Given the description of an element on the screen output the (x, y) to click on. 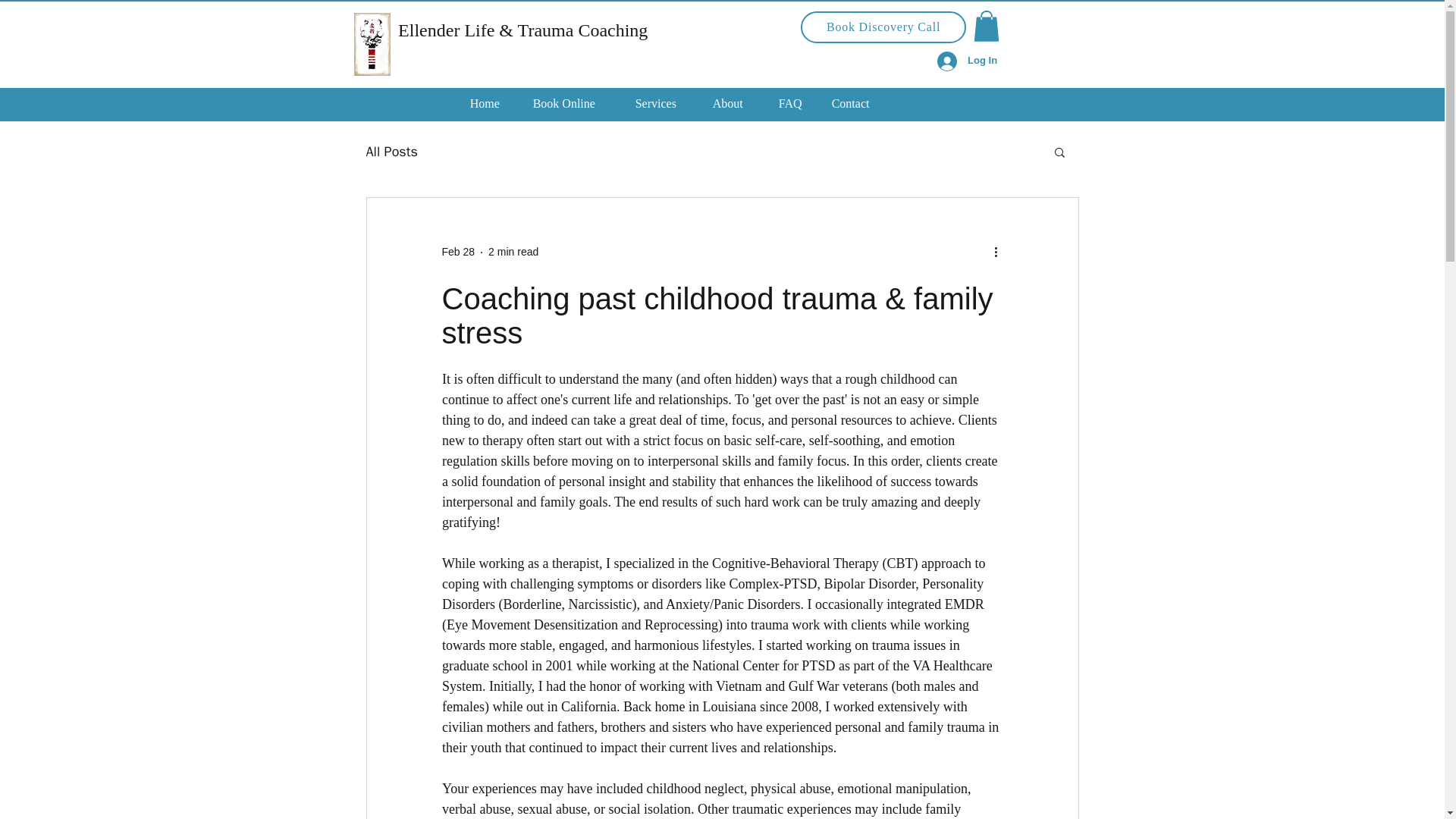
2 min read (512, 251)
Log In (966, 61)
About (737, 103)
FAQ (797, 103)
All Posts (390, 151)
Book Discovery Call (883, 27)
Contact (861, 103)
Feb 28 (457, 251)
Services (665, 103)
Home (494, 103)
